Given the description of an element on the screen output the (x, y) to click on. 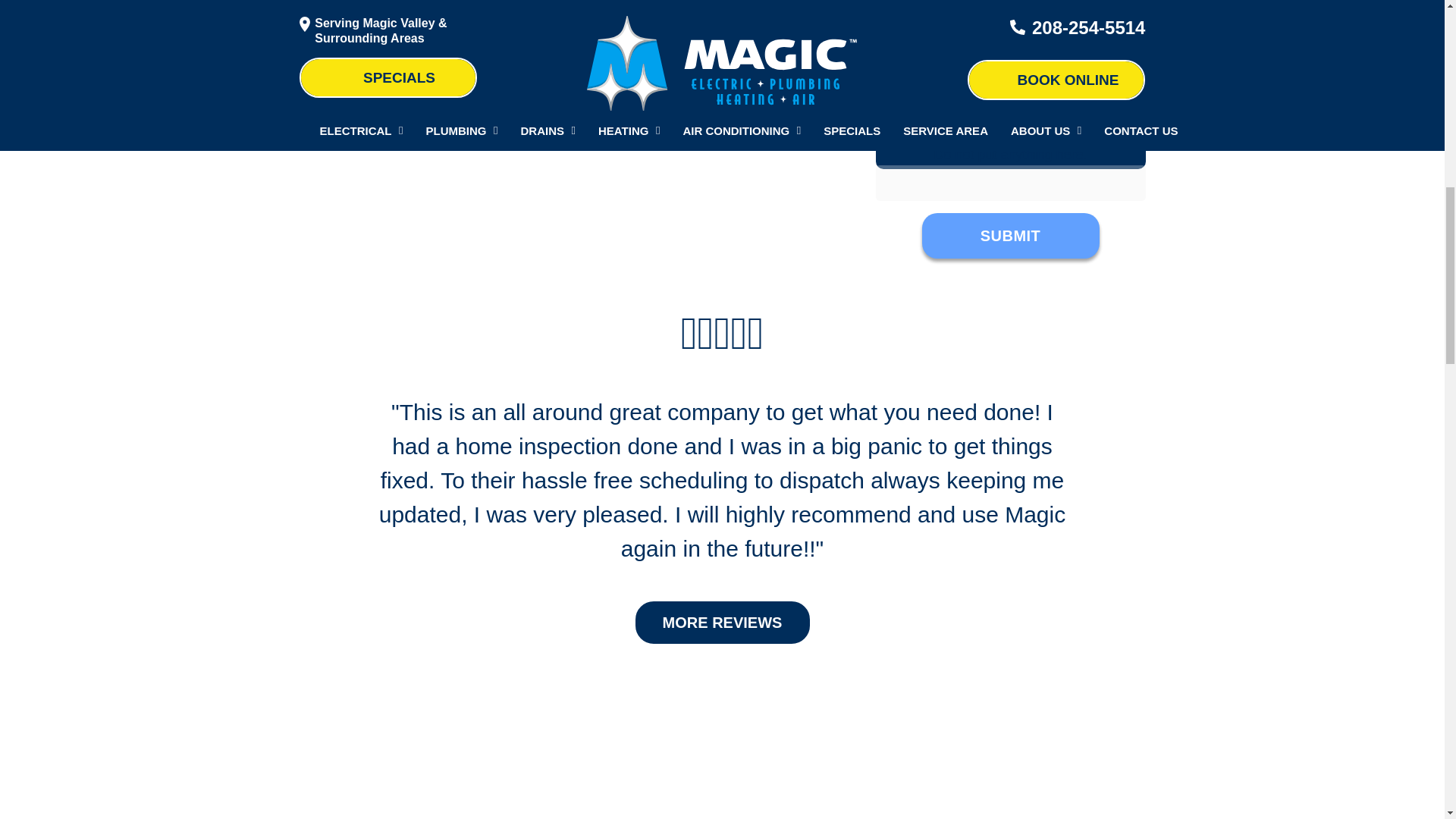
Submit (1010, 205)
